Given the description of an element on the screen output the (x, y) to click on. 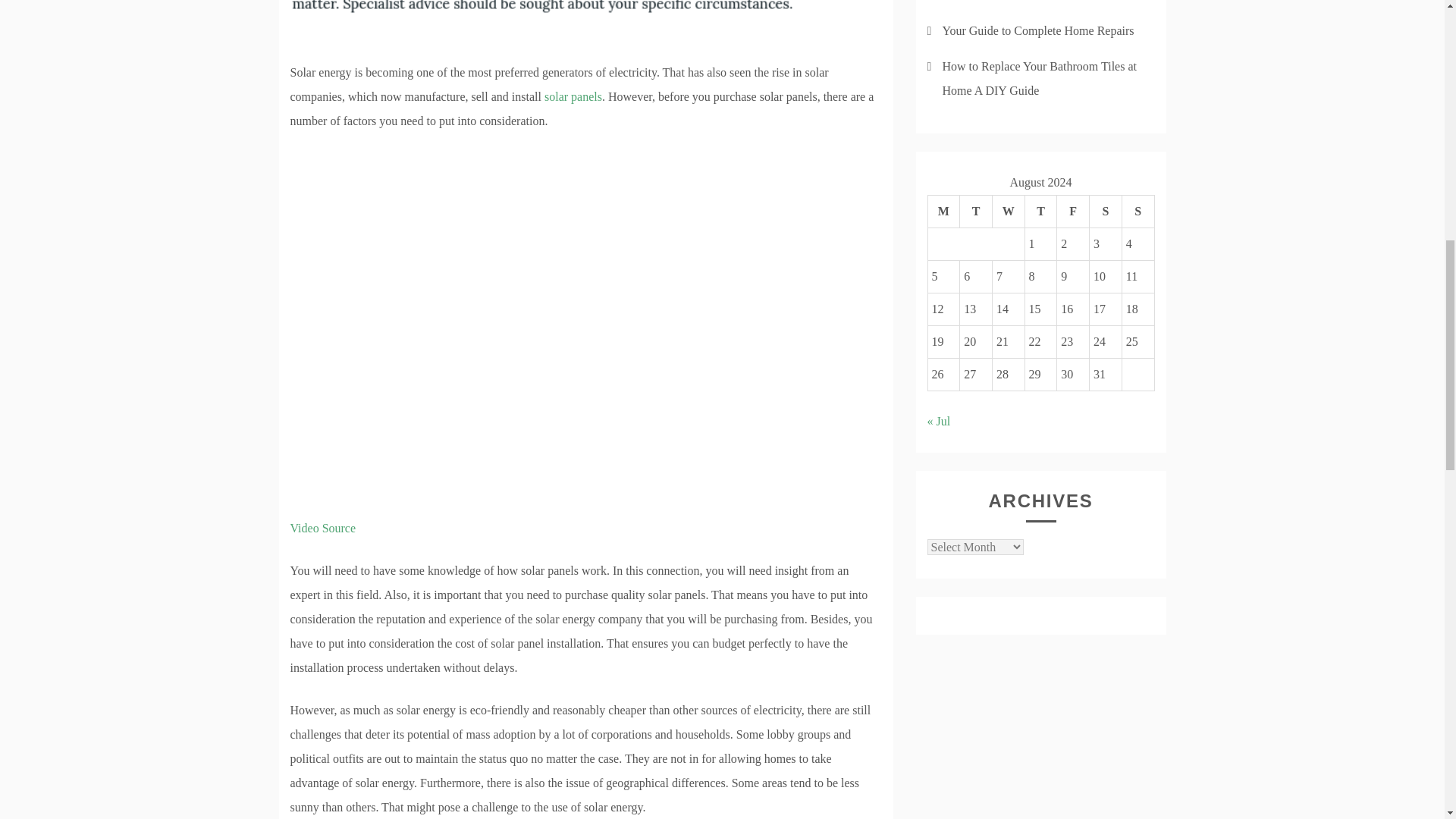
Thursday (1041, 211)
How to Replace Your Bathroom Tiles at Home A DIY Guide (1038, 78)
Monday (943, 211)
Sunday (1137, 211)
solar panels (573, 96)
Saturday (1105, 211)
Your Guide to Complete Home Repairs (1038, 30)
Tuesday (975, 211)
Wednesday (1008, 211)
Video Source (322, 527)
Friday (1073, 211)
